Given the description of an element on the screen output the (x, y) to click on. 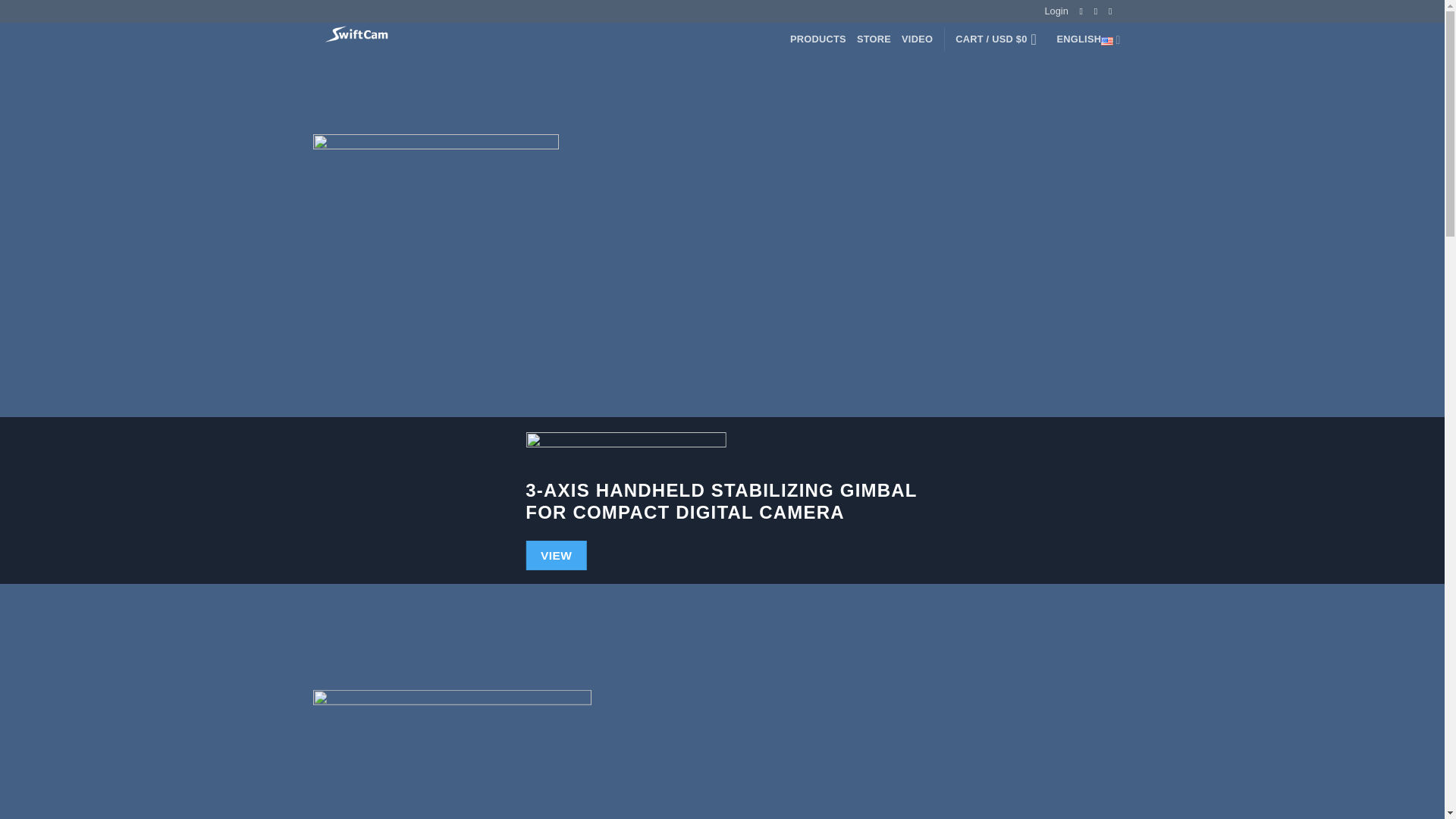
ENGLISH (1089, 39)
SwiftCam - Swiftcam Global (386, 33)
VIDEO (917, 39)
Login (1055, 11)
PRODUCTS (817, 39)
Cart (1000, 39)
STORE (874, 39)
VIEW (555, 555)
